Given the description of an element on the screen output the (x, y) to click on. 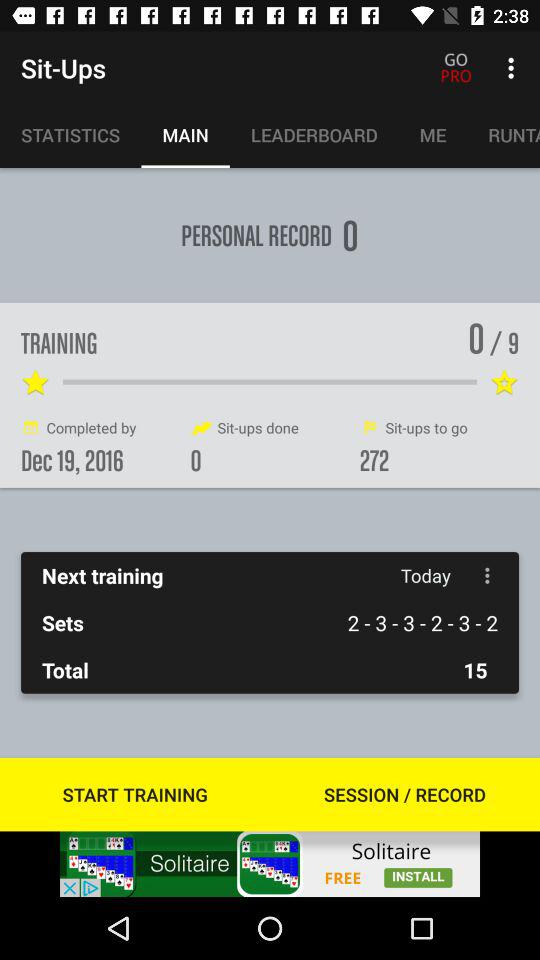
go to advertisement (270, 864)
